Given the description of an element on the screen output the (x, y) to click on. 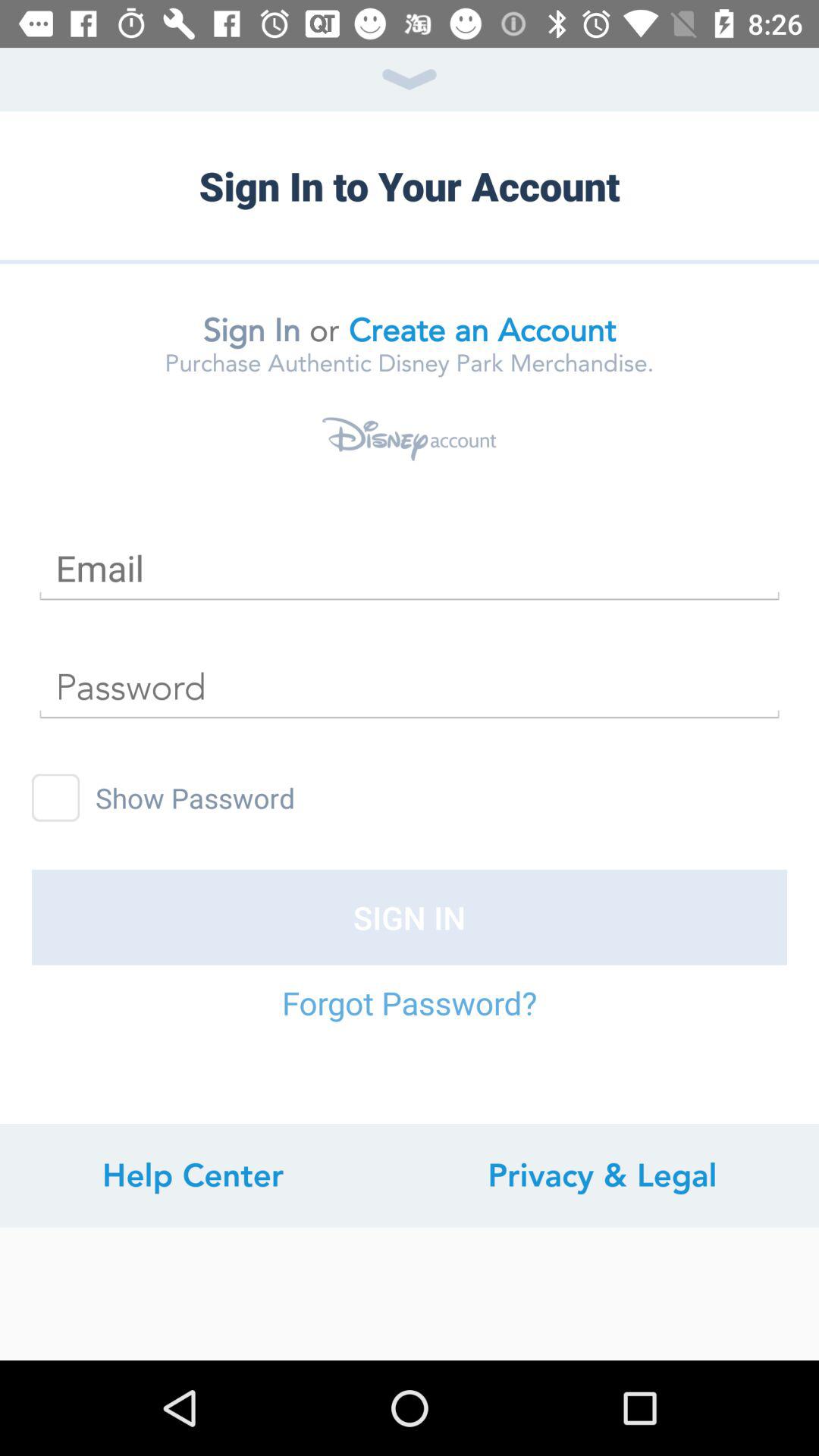
open the item to the right of the  or  item (481, 330)
